Given the description of an element on the screen output the (x, y) to click on. 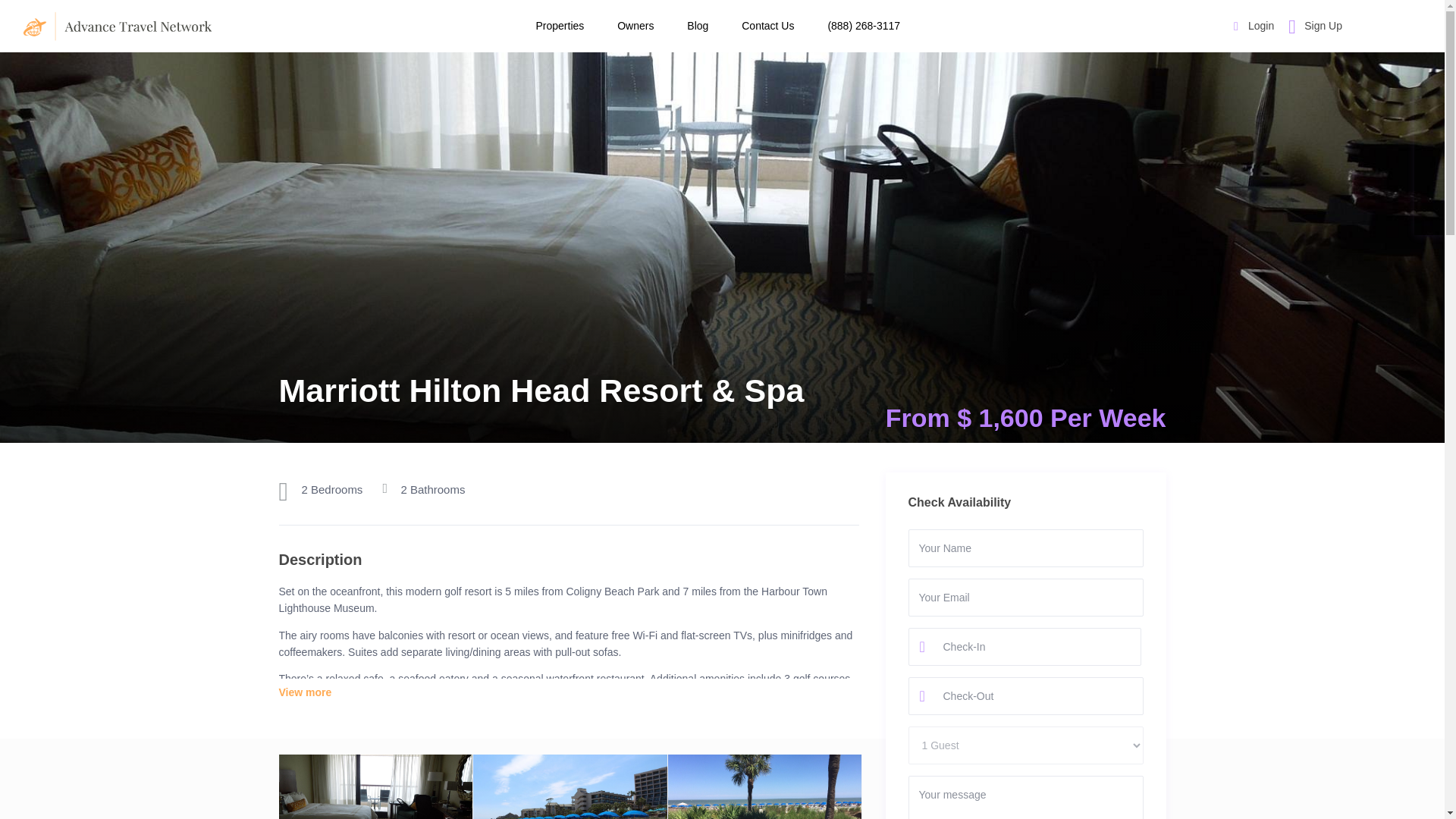
Contact Us (767, 25)
Properties (558, 25)
Blog (697, 25)
Owners (635, 25)
